Given the description of an element on the screen output the (x, y) to click on. 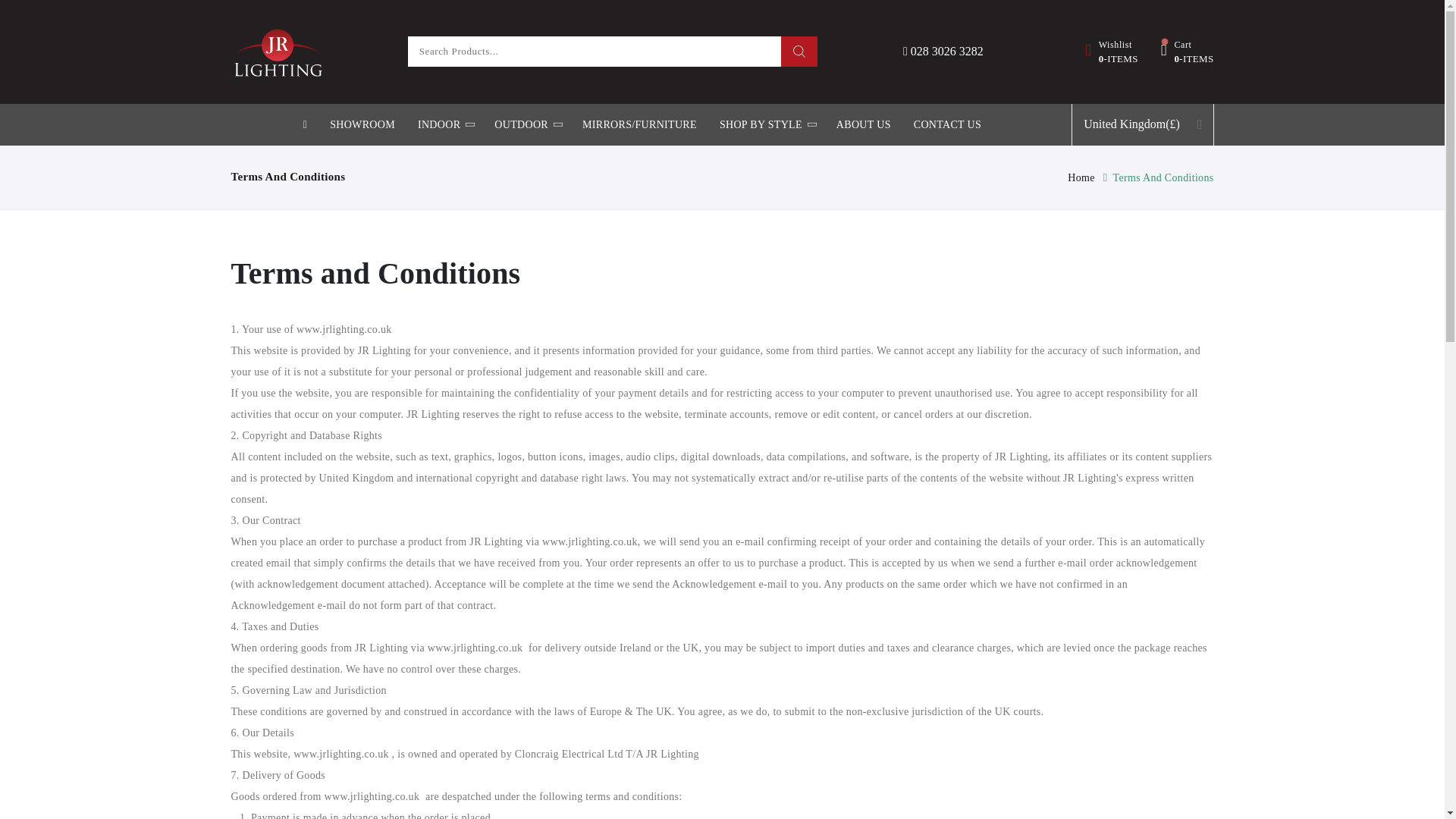
SHOWROOM (362, 124)
028 3026 3282 (943, 51)
ABOUT US (1111, 51)
Wishlist (863, 124)
INDOOR (1111, 51)
SHOP BY STYLE (1187, 51)
Cart (438, 124)
CONTACT US (760, 124)
OUTDOOR (1187, 51)
